Given the description of an element on the screen output the (x, y) to click on. 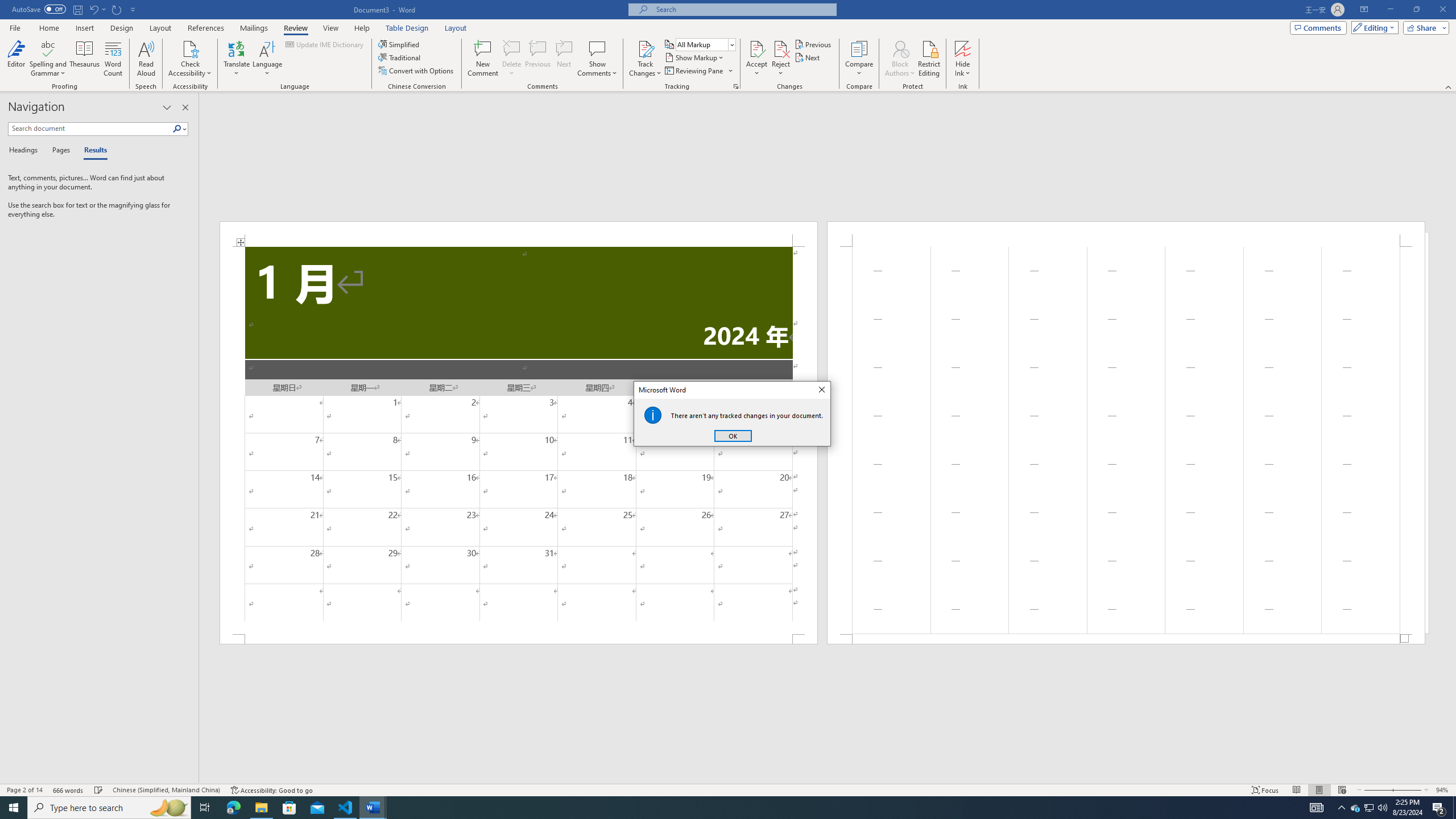
Hide Ink (962, 48)
Page Number Page 2 of 14 (24, 790)
Accept and Move to Next (756, 48)
OK (732, 435)
